Given the description of an element on the screen output the (x, y) to click on. 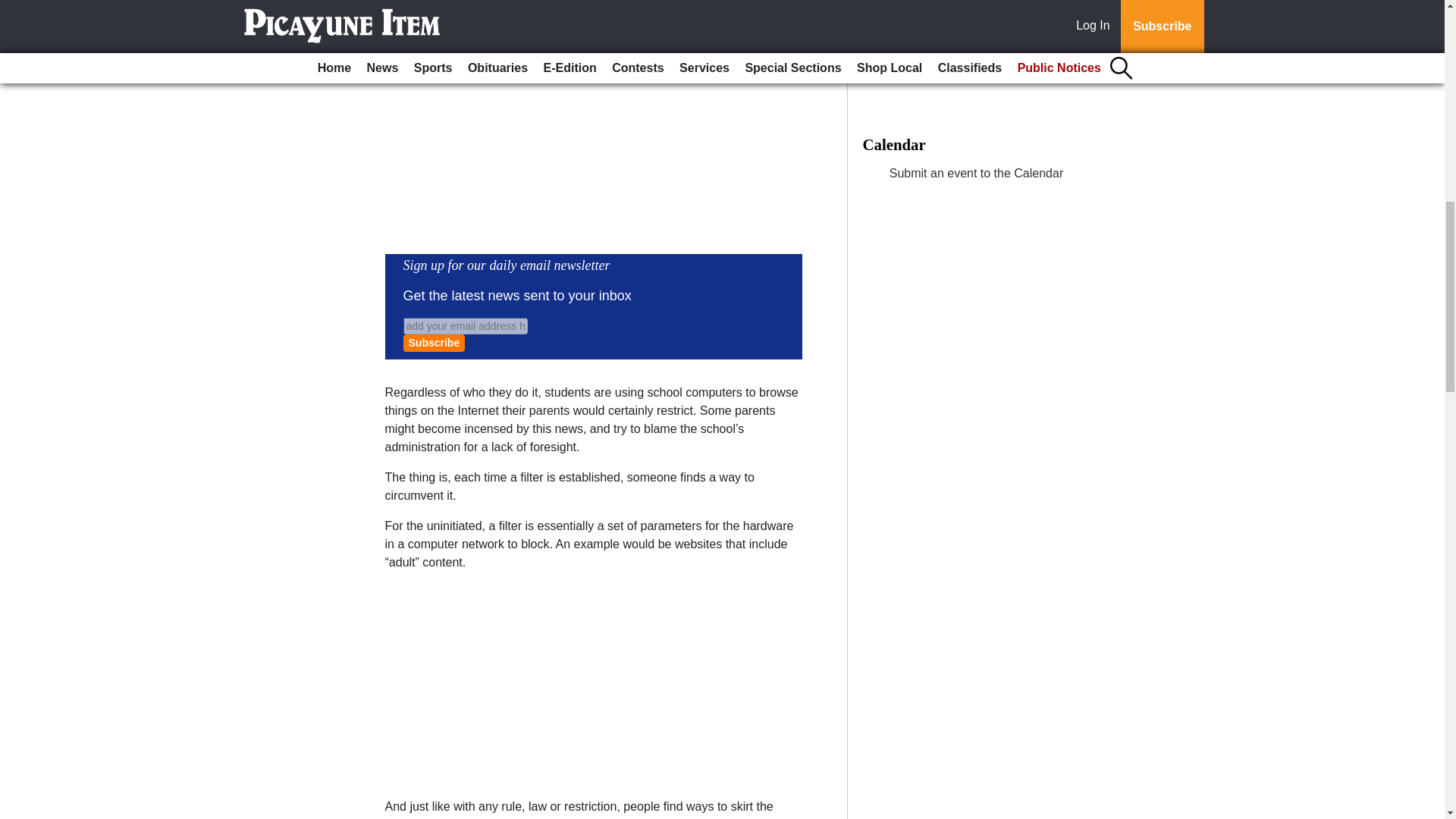
Subscribe (434, 343)
Submit an event to the Calendar (975, 173)
Subscribe (434, 343)
